Given the description of an element on the screen output the (x, y) to click on. 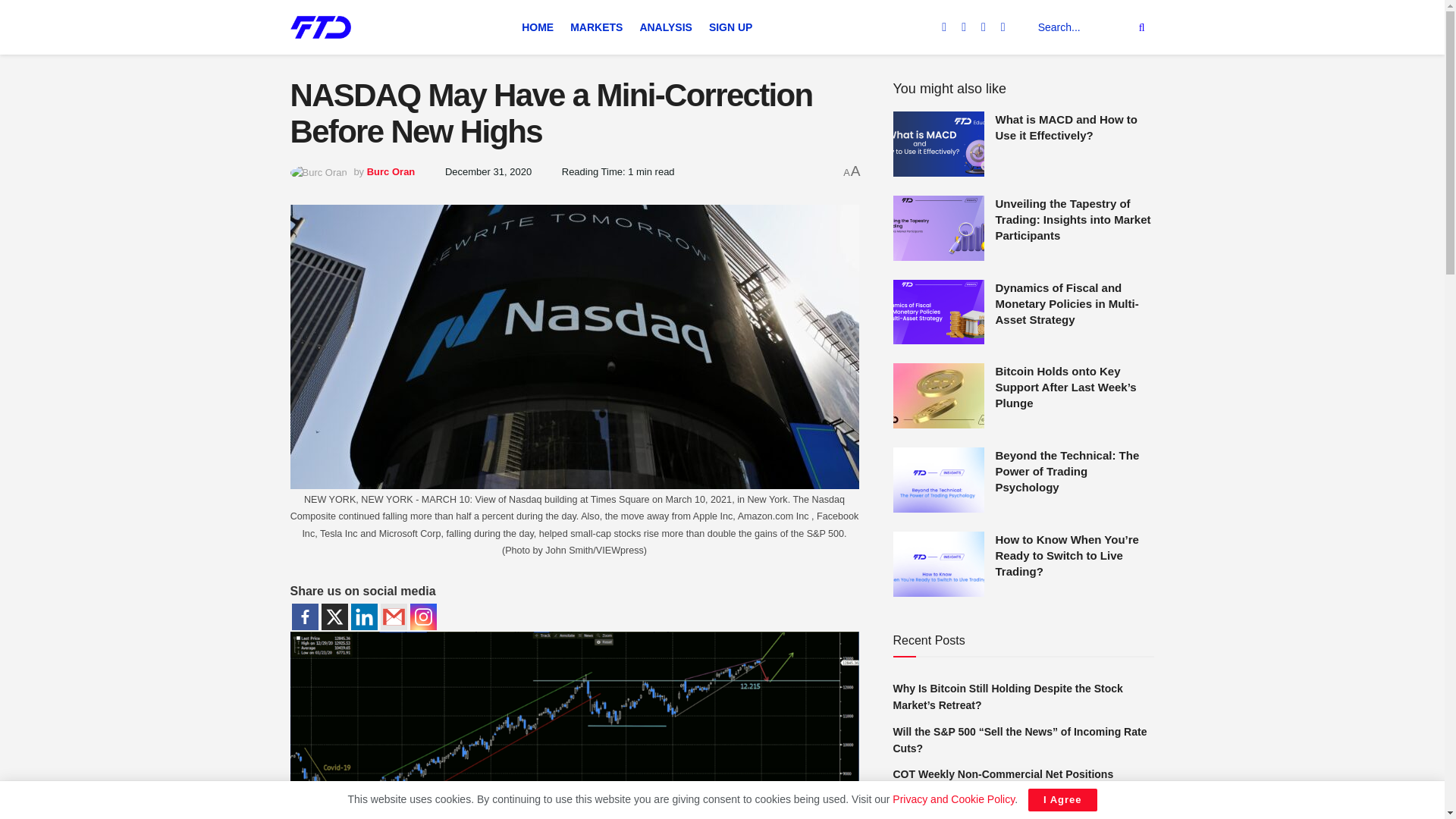
Linkedin (363, 616)
Facebook (304, 616)
Burc Oran (390, 171)
December 31, 2020 (488, 171)
X (334, 616)
Google Gmail (393, 616)
MARKETS (596, 27)
Instagram (422, 616)
ANALYSIS (666, 27)
